Given the description of an element on the screen output the (x, y) to click on. 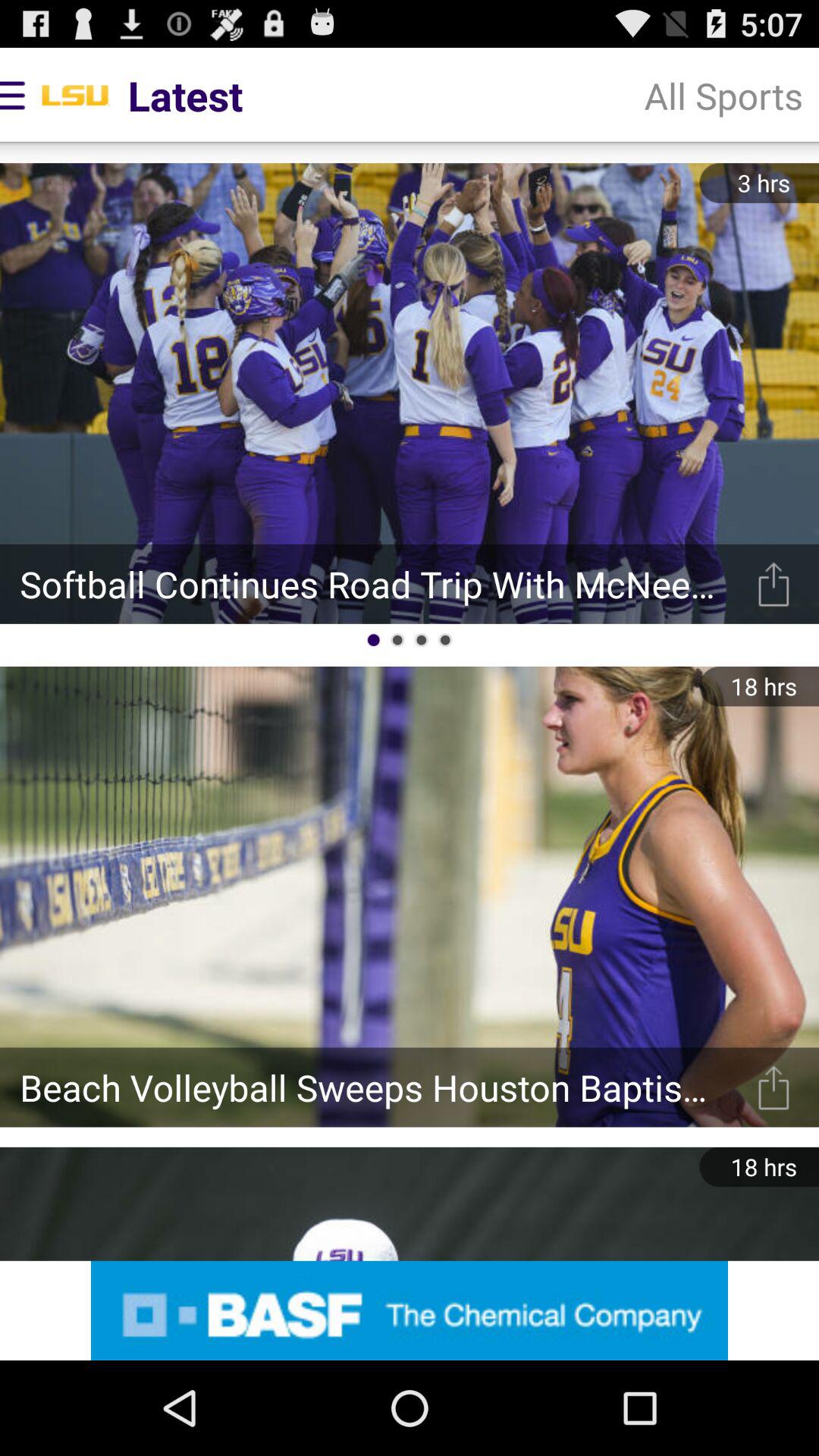
swipe to all sports icon (723, 95)
